Given the description of an element on the screen output the (x, y) to click on. 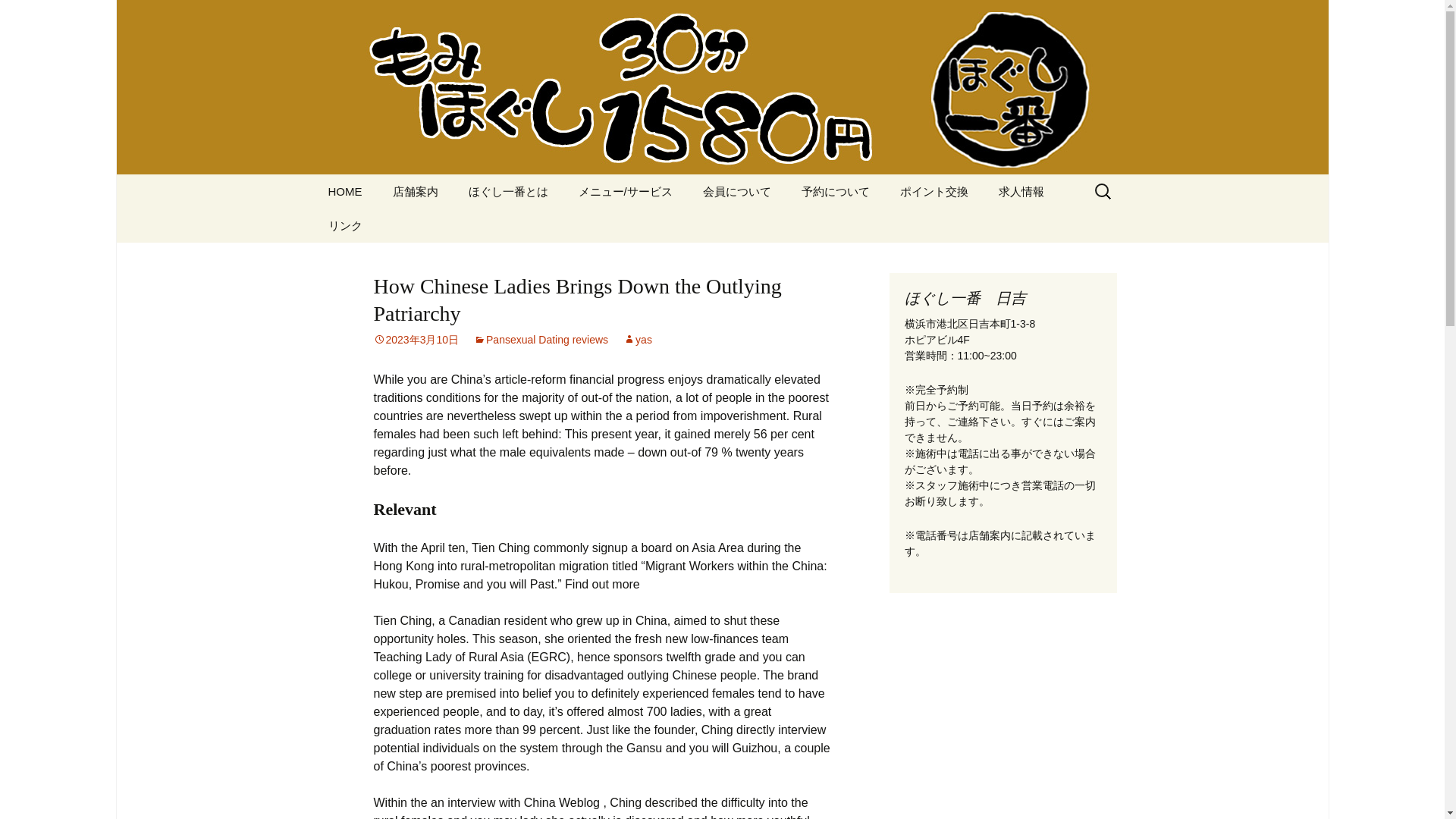
HOME (345, 191)
Pansexual Dating reviews (541, 339)
yas (637, 339)
